Given the description of an element on the screen output the (x, y) to click on. 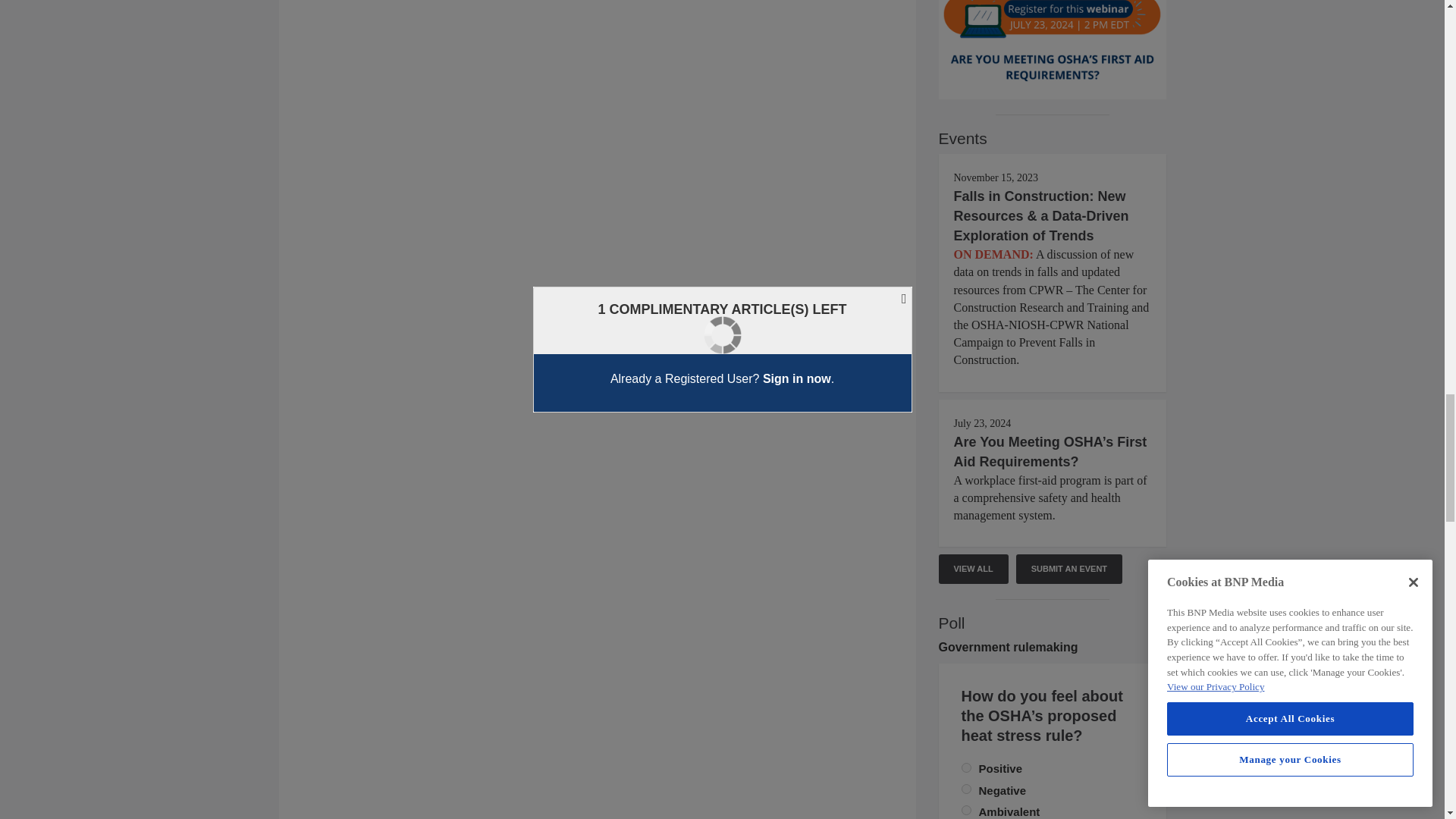
142 (965, 767)
144 (965, 809)
143 (965, 788)
